Given the description of an element on the screen output the (x, y) to click on. 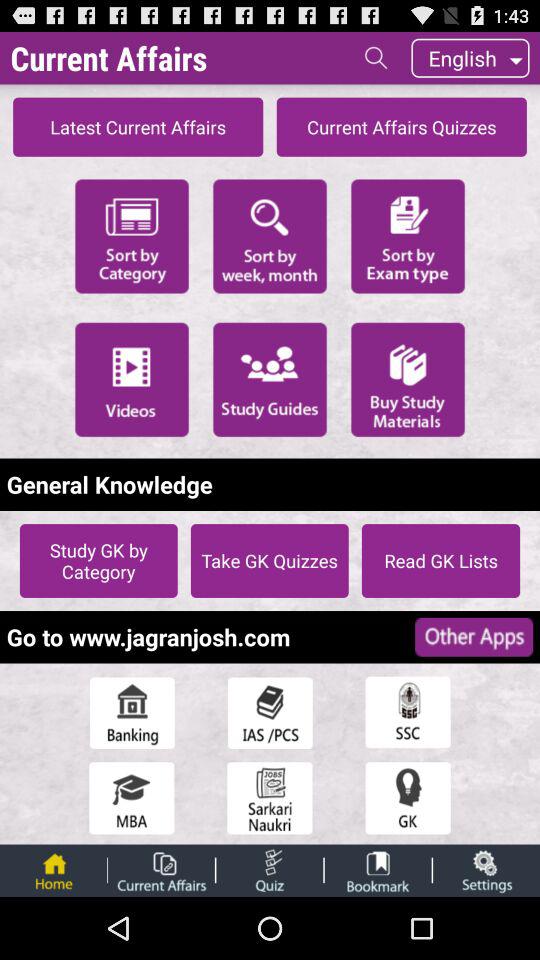
select read gk lists (440, 561)
